Given the description of an element on the screen output the (x, y) to click on. 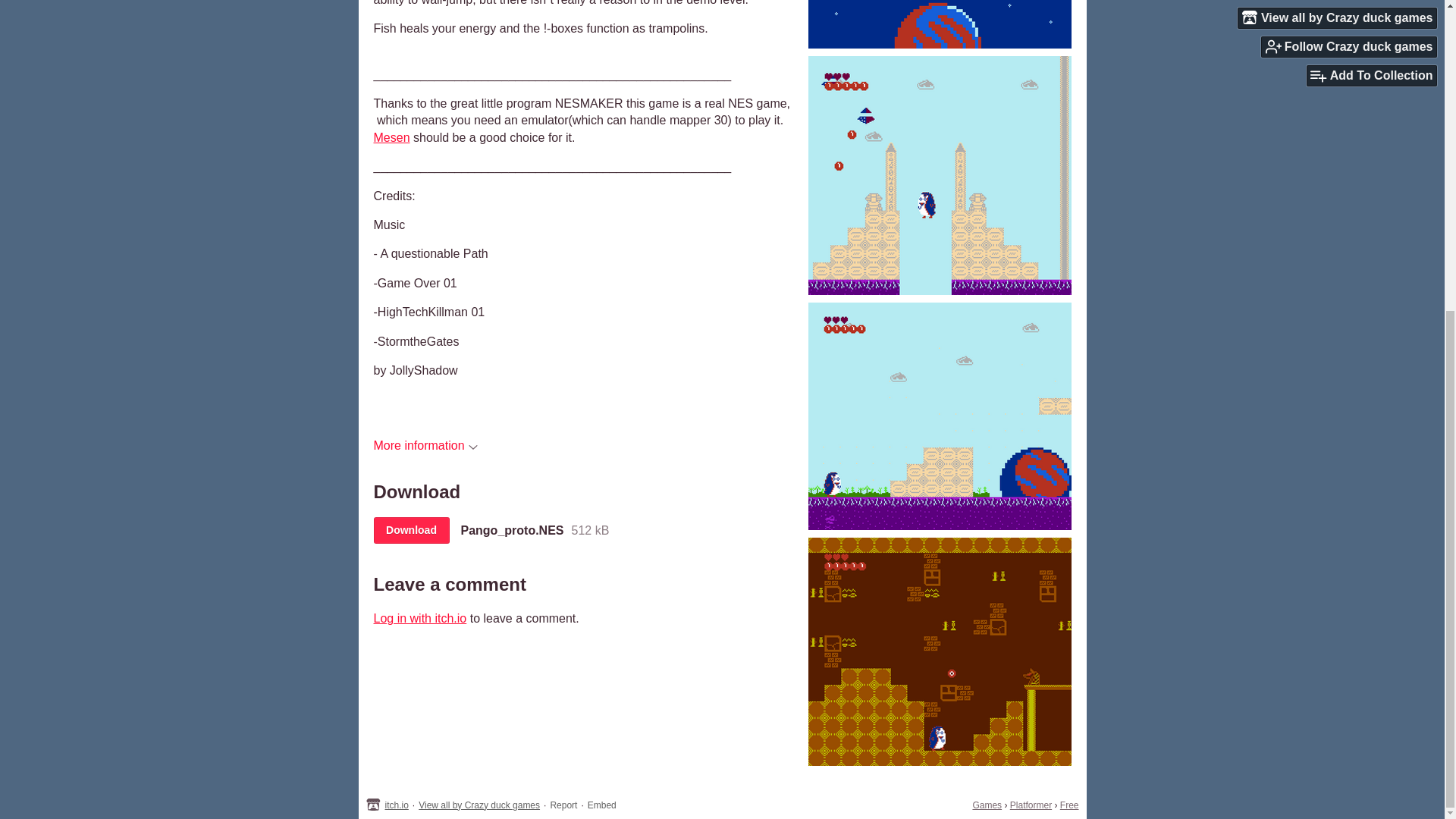
itch.io (397, 805)
Free (1068, 805)
Download (410, 529)
Platformer (1030, 805)
More information (424, 445)
Mesen (390, 137)
Report (563, 805)
Log in with itch.io (418, 617)
Games (986, 805)
Embed (601, 805)
